Given the description of an element on the screen output the (x, y) to click on. 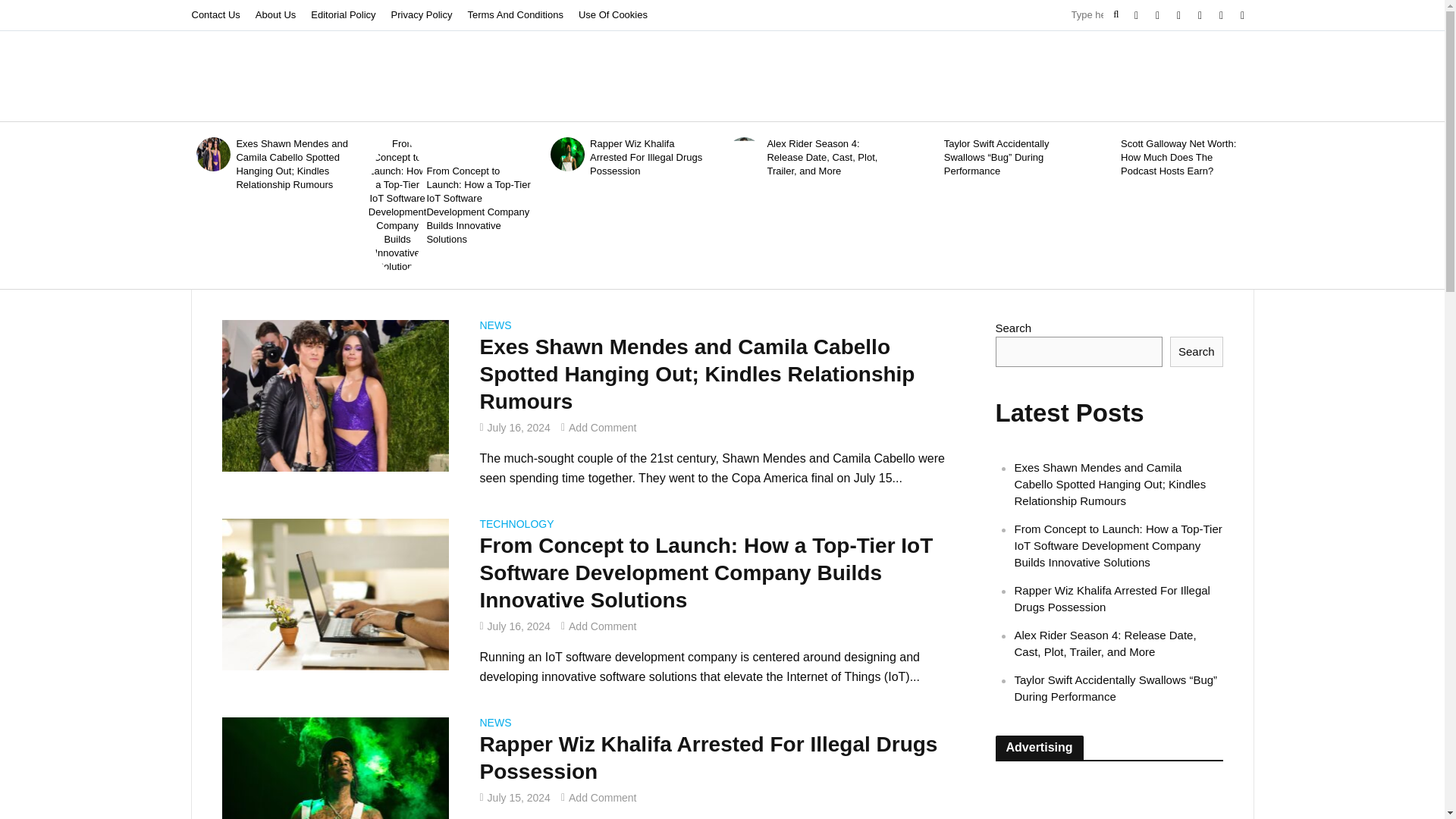
Rapper Wiz Khalifa Arrested For Illegal Drugs Possession (334, 791)
Use Of Cookies (612, 15)
Editorial Policy (342, 15)
Privacy Policy (422, 15)
About Us (274, 15)
Contact Us (218, 15)
Rapper Wiz Khalifa Arrested For Illegal Drugs Possession (649, 157)
